Given the description of an element on the screen output the (x, y) to click on. 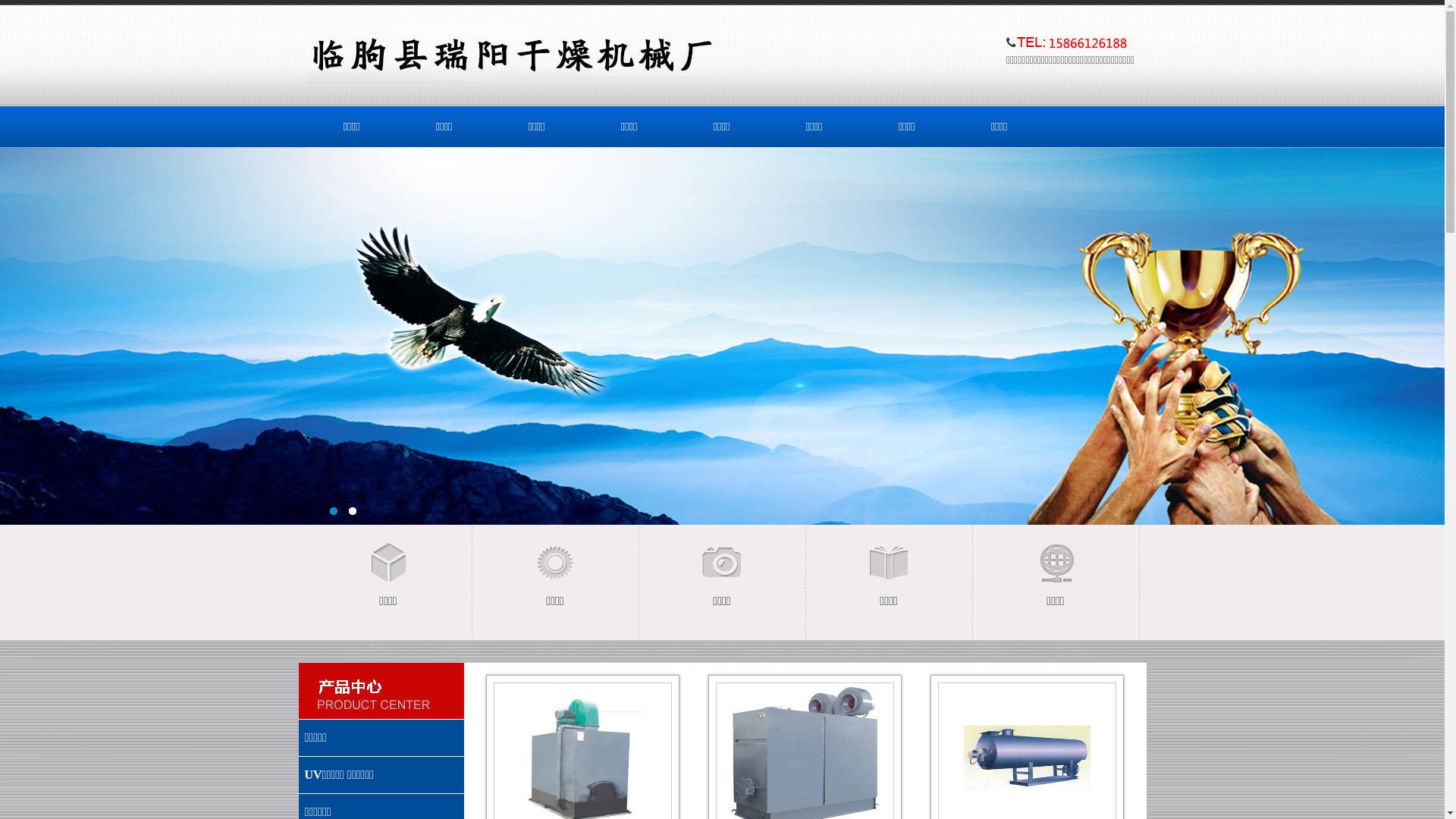
2 Element type: text (352, 513)
1 Element type: text (333, 513)
